Given the description of an element on the screen output the (x, y) to click on. 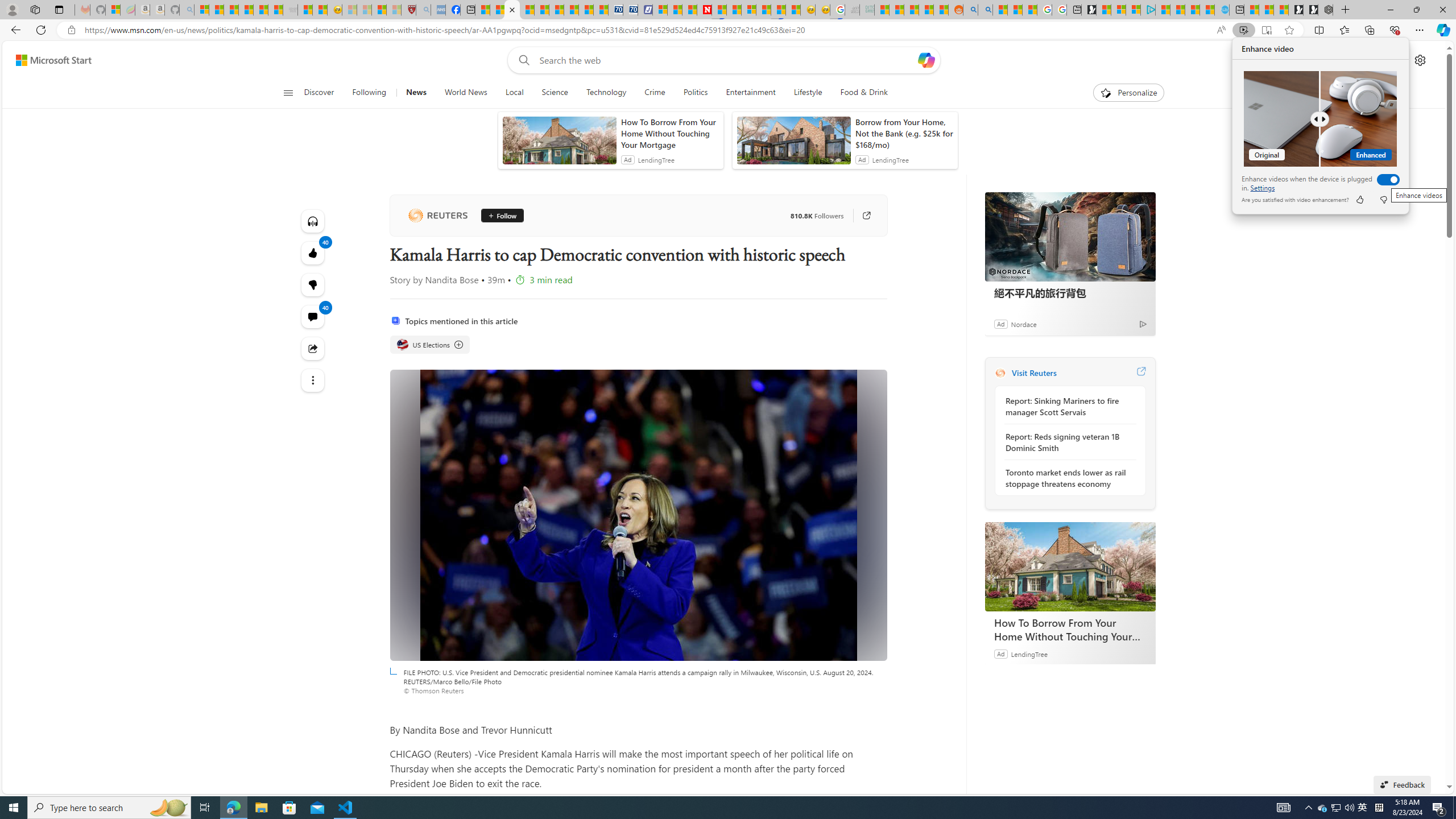
Food & Drink (859, 92)
Visual Studio Code - 1 running window (345, 807)
Microsoft Start (1192, 9)
View comments 40 Comment (312, 316)
Address and search bar (647, 29)
US Elections (401, 344)
Food & Drink (864, 92)
Class: at-item (312, 380)
Feedback (1402, 784)
New Tab (1346, 9)
Report: Sinking Mariners to fire manager Scott Servais (1066, 406)
Like (1359, 199)
Microsoft Store (289, 807)
